Given the description of an element on the screen output the (x, y) to click on. 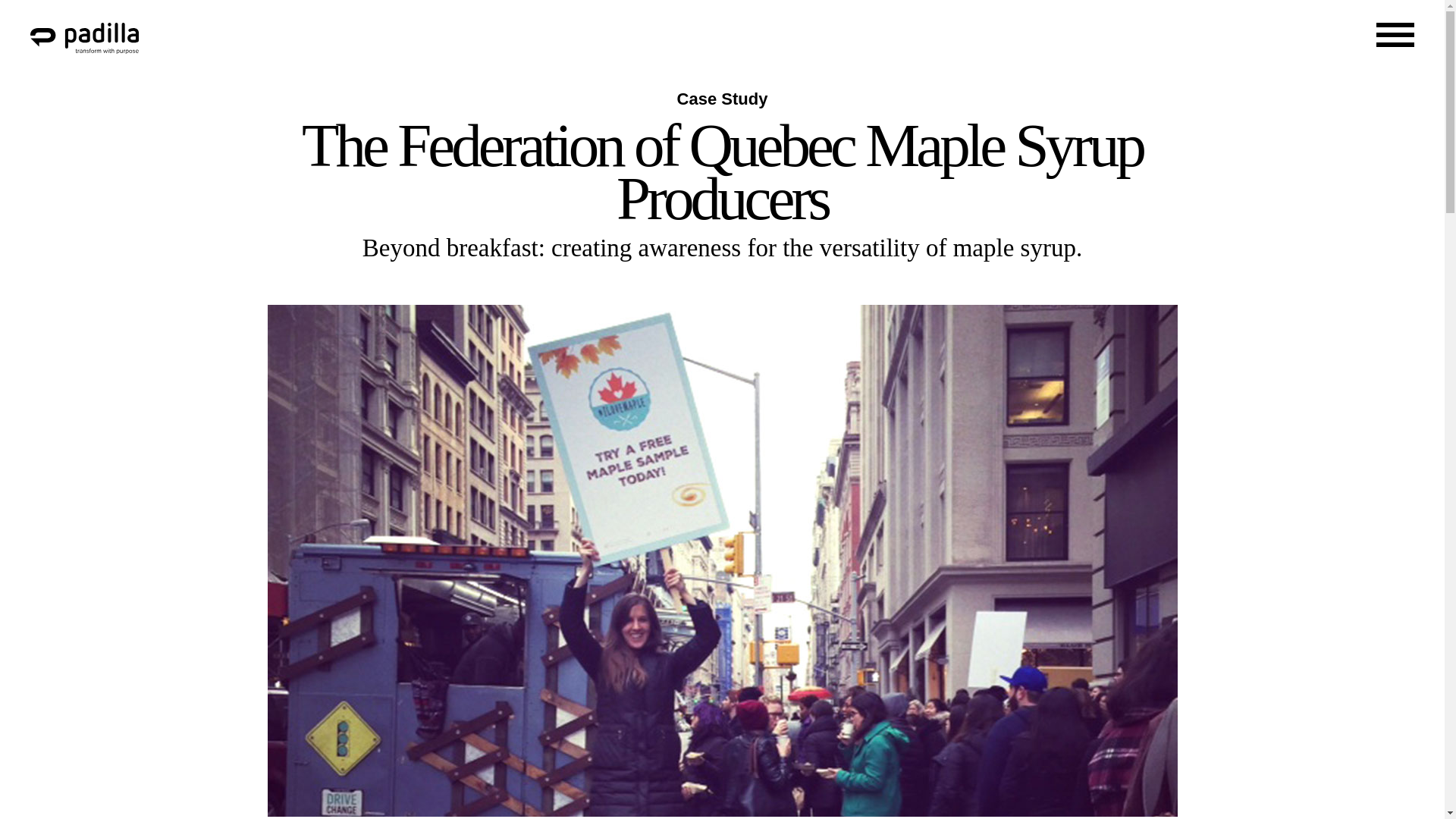
Padilla: Transform With Purpose (84, 38)
Padilla: Transform With Purpose (84, 46)
